Given the description of an element on the screen output the (x, y) to click on. 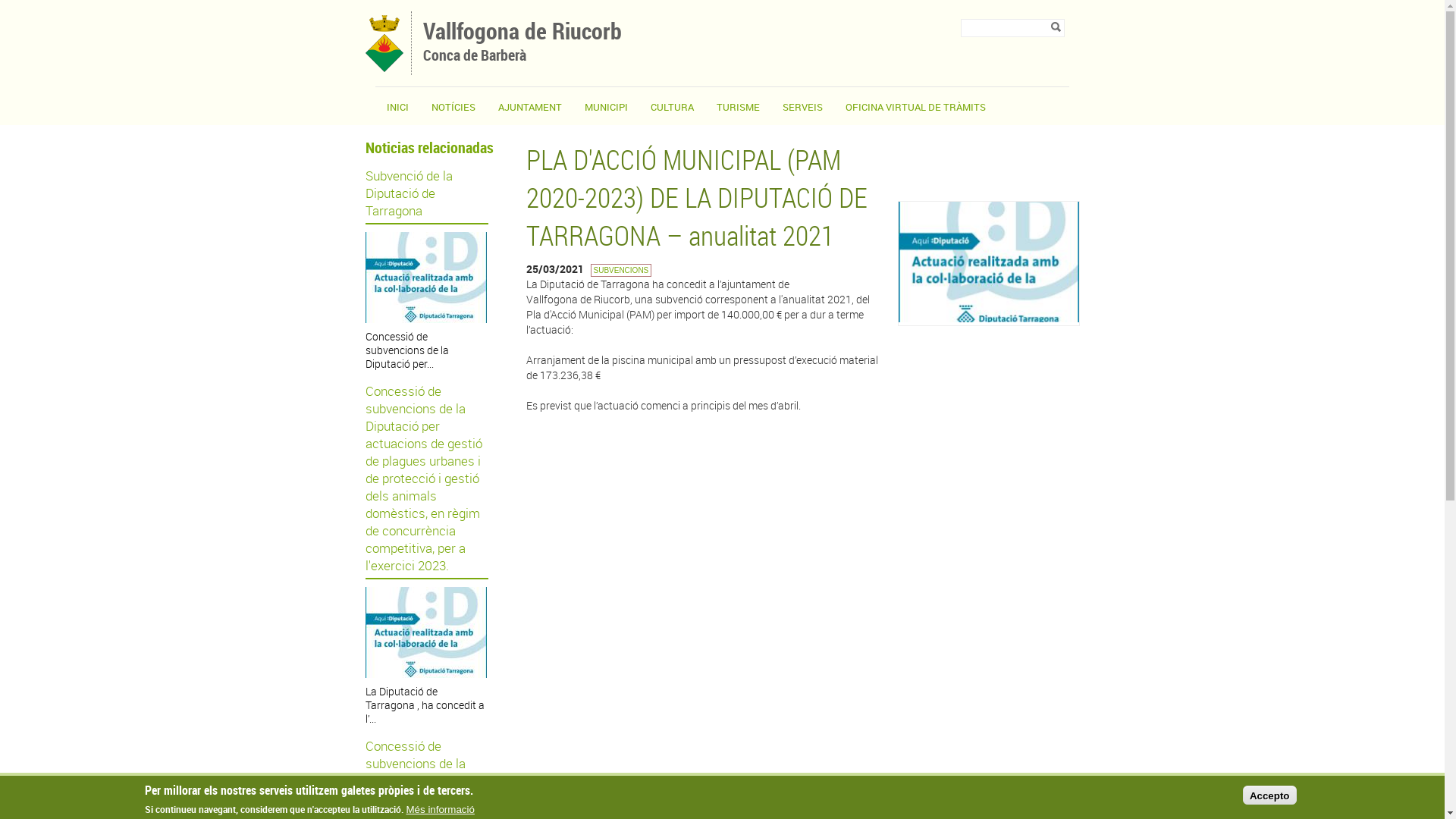
SUBVENCIONS Element type: text (620, 269)
Inici Element type: hover (384, 67)
INICI Element type: text (397, 106)
CULTURA Element type: text (671, 106)
TURISME Element type: text (737, 106)
AJUNTAMENT Element type: text (529, 106)
SERVEIS Element type: text (802, 106)
Accepto Element type: text (1269, 794)
MUNICIPI Element type: text (605, 106)
